Given the description of an element on the screen output the (x, y) to click on. 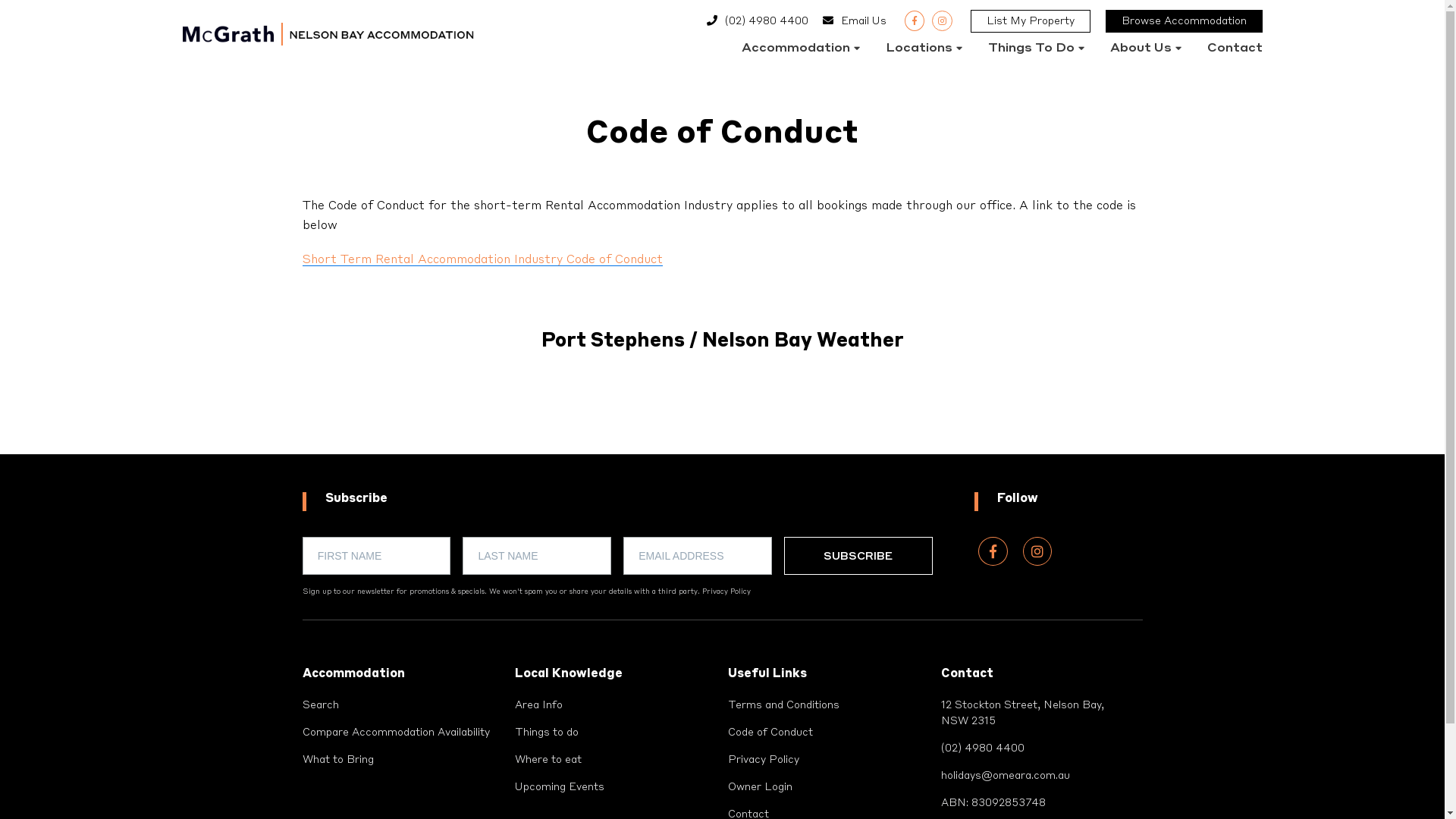
Locations Element type: text (923, 50)
Area Info Element type: text (538, 704)
Things to do Element type: text (546, 732)
About Us Element type: text (1145, 50)
Contact Element type: text (1234, 50)
Search Element type: text (319, 704)
Accommodation Element type: text (800, 50)
Subscribe Element type: text (858, 555)
Browse Accommodation Element type: text (1183, 20)
Nelson Bay Accommodation Element type: text (265, 74)
Compare Accommodation Availability Element type: text (395, 732)
Owner Login Element type: text (760, 786)
Terms and Conditions Element type: text (783, 704)
Things To Do Element type: text (1035, 50)
Where to eat Element type: text (547, 759)
Code of Conduct Element type: text (770, 732)
Upcoming Events Element type: text (559, 786)
holidays@omeara.com.au Element type: text (1005, 775)
(02) 4980 4400 Element type: text (982, 748)
(02) 4980 4400 Element type: text (766, 20)
Short Term Rental Accommodation Industry Code of Conduct Element type: text (481, 260)
Privacy Policy Element type: text (726, 591)
Privacy Policy Element type: text (763, 759)
Email Us Element type: text (863, 20)
List My Property Element type: text (1030, 20)
What to Bring Element type: text (337, 759)
